Given the description of an element on the screen output the (x, y) to click on. 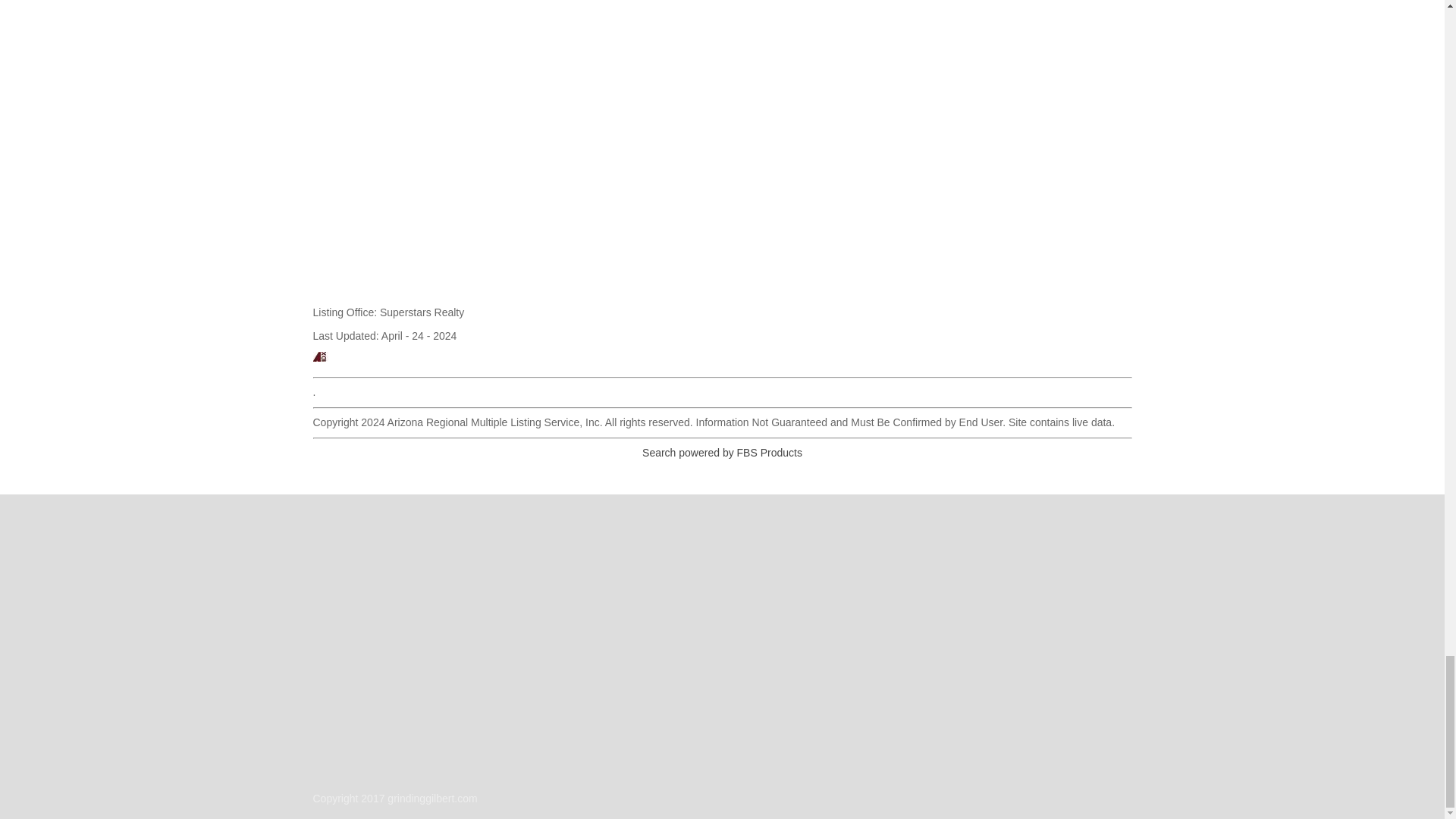
Search powered by FBS Products (722, 452)
